Given the description of an element on the screen output the (x, y) to click on. 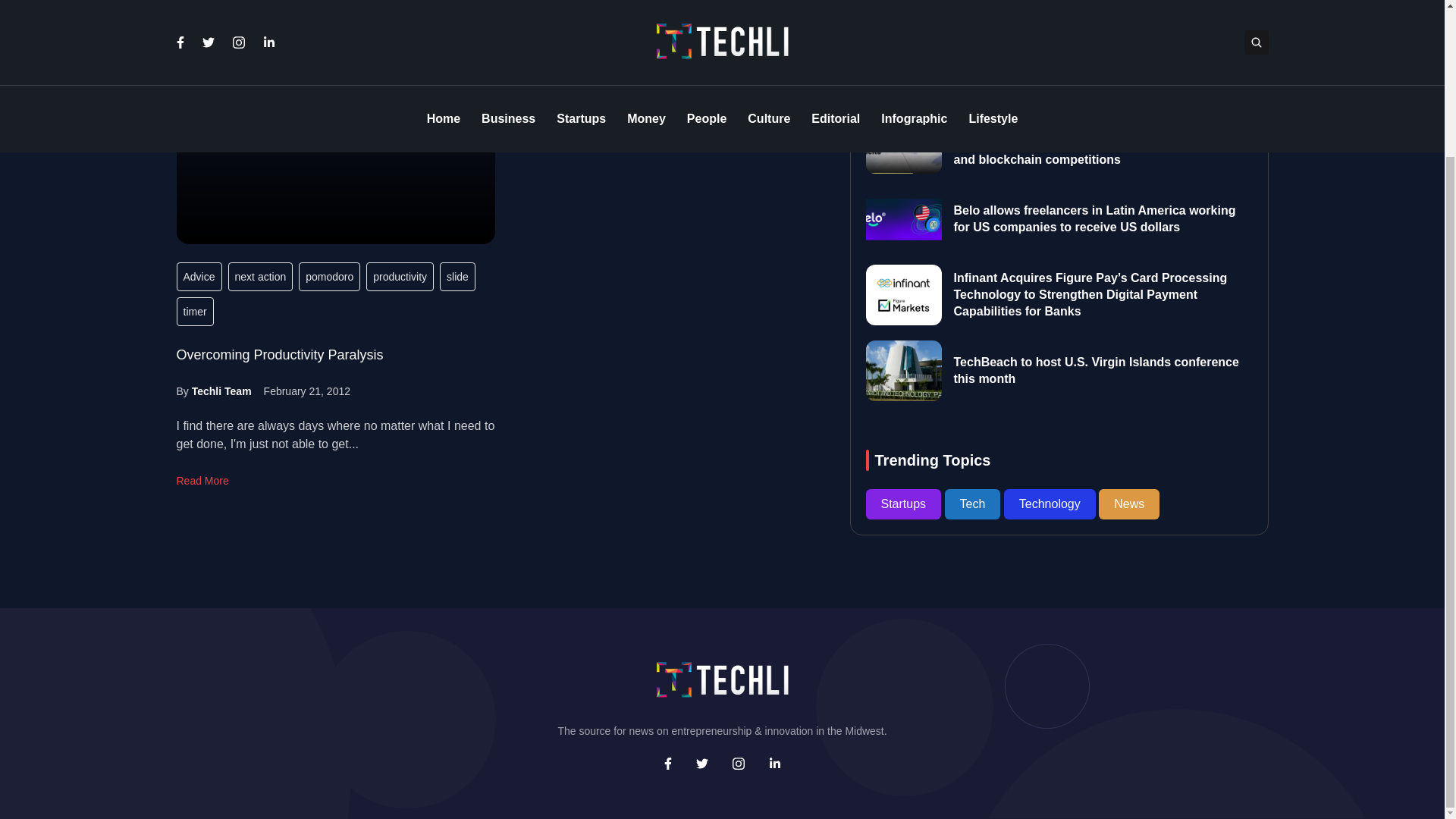
Overcoming Productivity Paralysis (335, 130)
slide (457, 276)
Techli Team (221, 390)
timer (194, 311)
productivity (399, 276)
Advice (198, 276)
TechBeach to host U.S. Virgin Islands conference this month (1096, 299)
Read More (202, 480)
Overcoming Productivity Paralysis (279, 355)
next action (261, 276)
pomodoro (328, 276)
